Given the description of an element on the screen output the (x, y) to click on. 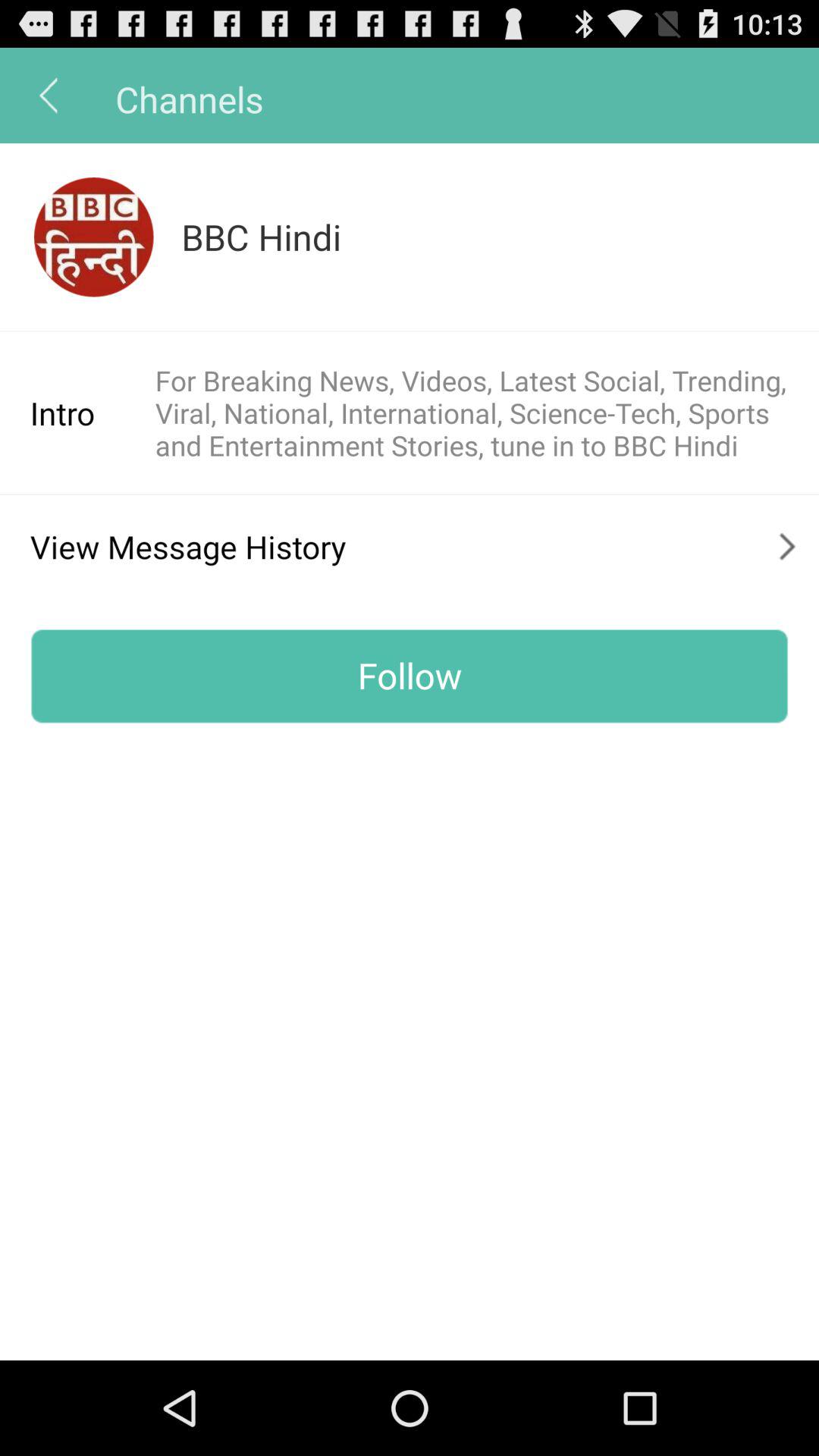
jump until follow (409, 676)
